Given the description of an element on the screen output the (x, y) to click on. 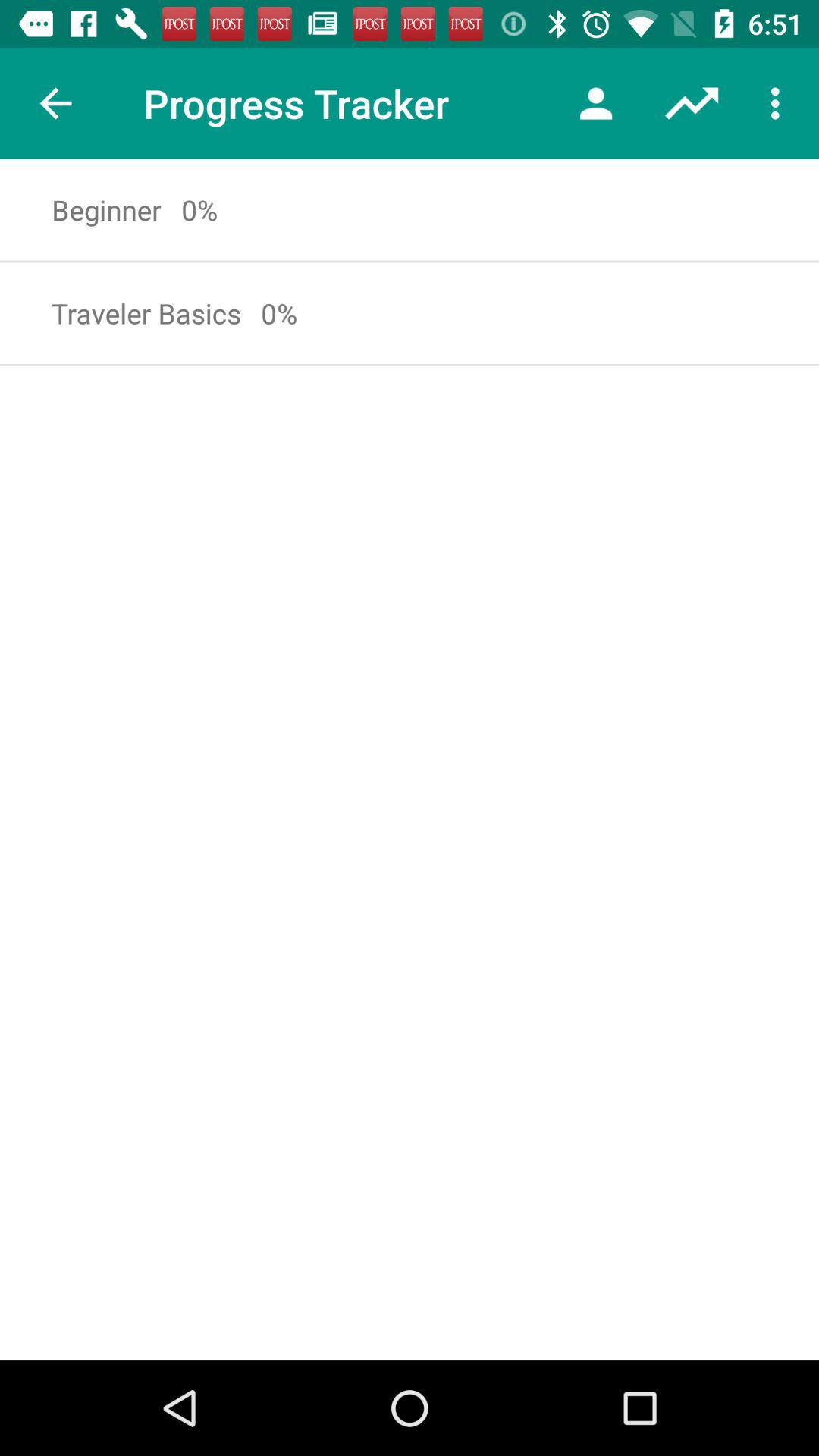
tap item next to the progress tracker item (55, 103)
